Given the description of an element on the screen output the (x, y) to click on. 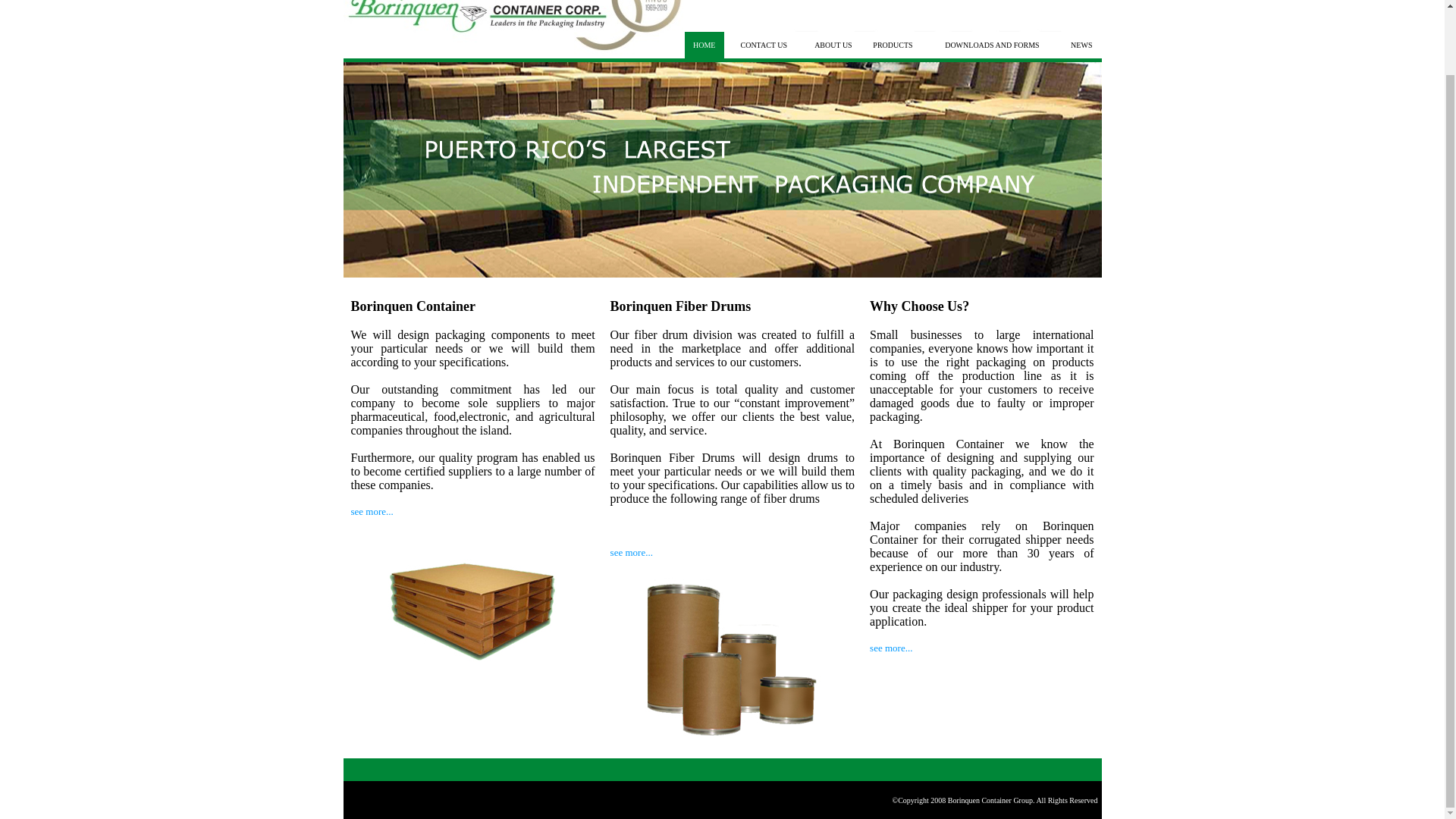
Borinquen Container (413, 305)
ABOUT US (832, 44)
Borinquen Fiber Drums (680, 305)
NEWS (1081, 44)
Why Choose Us? (919, 305)
see more... (890, 647)
PRODUCTS (892, 44)
see more... (371, 511)
HOME (703, 44)
see more... (631, 552)
CONTACT US (763, 44)
DOWNLOADS AND FORMS (991, 44)
